Given the description of an element on the screen output the (x, y) to click on. 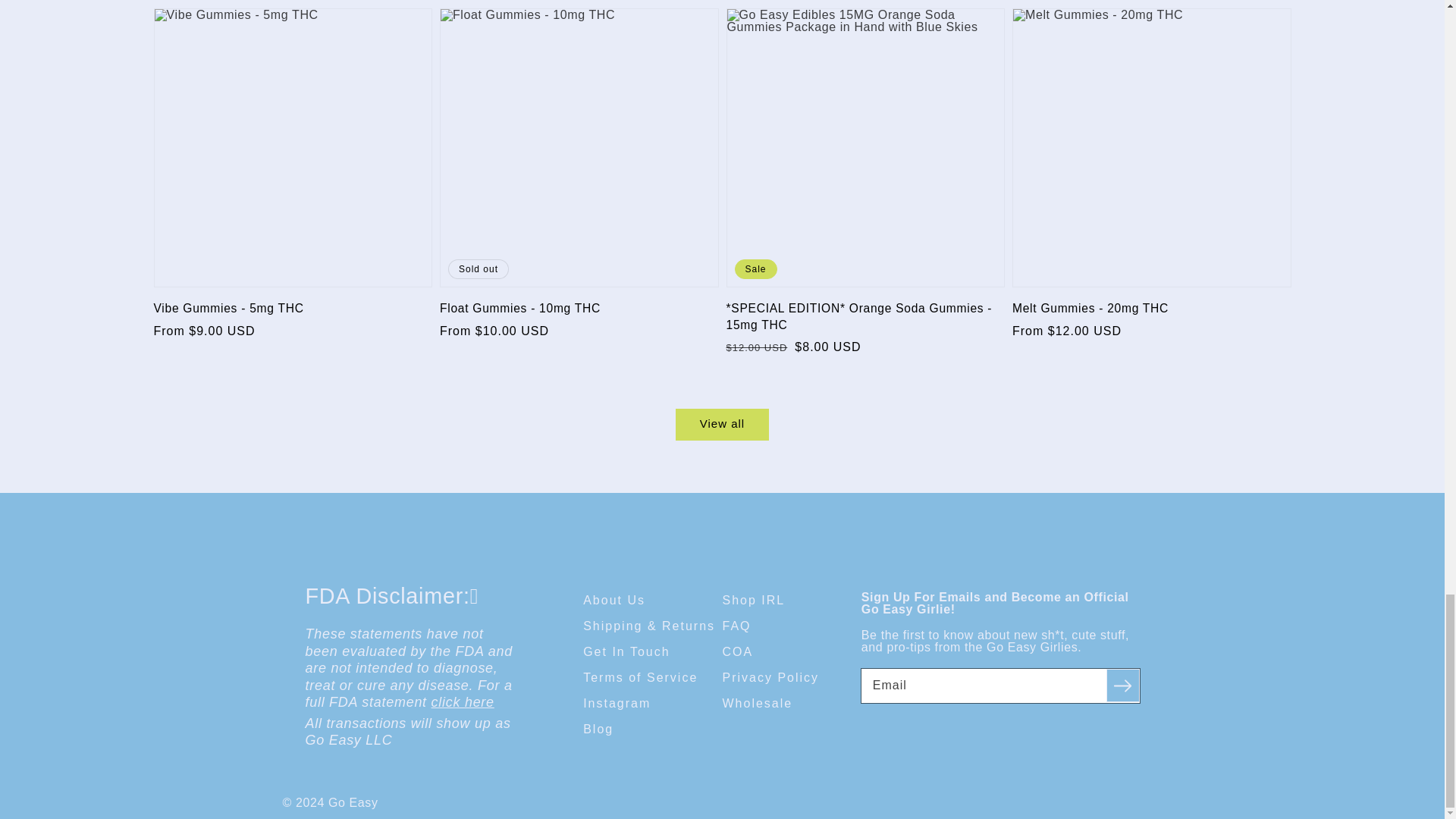
Melt Gummies - 20mg THC (1146, 308)
Shop IRL (753, 600)
click here (462, 702)
FDA Disclaimer (462, 702)
Float Gummies - 10mg THC (574, 308)
Vibe Gummies - 5mg THC (287, 308)
About Us (614, 600)
View all (722, 424)
